Given the description of an element on the screen output the (x, y) to click on. 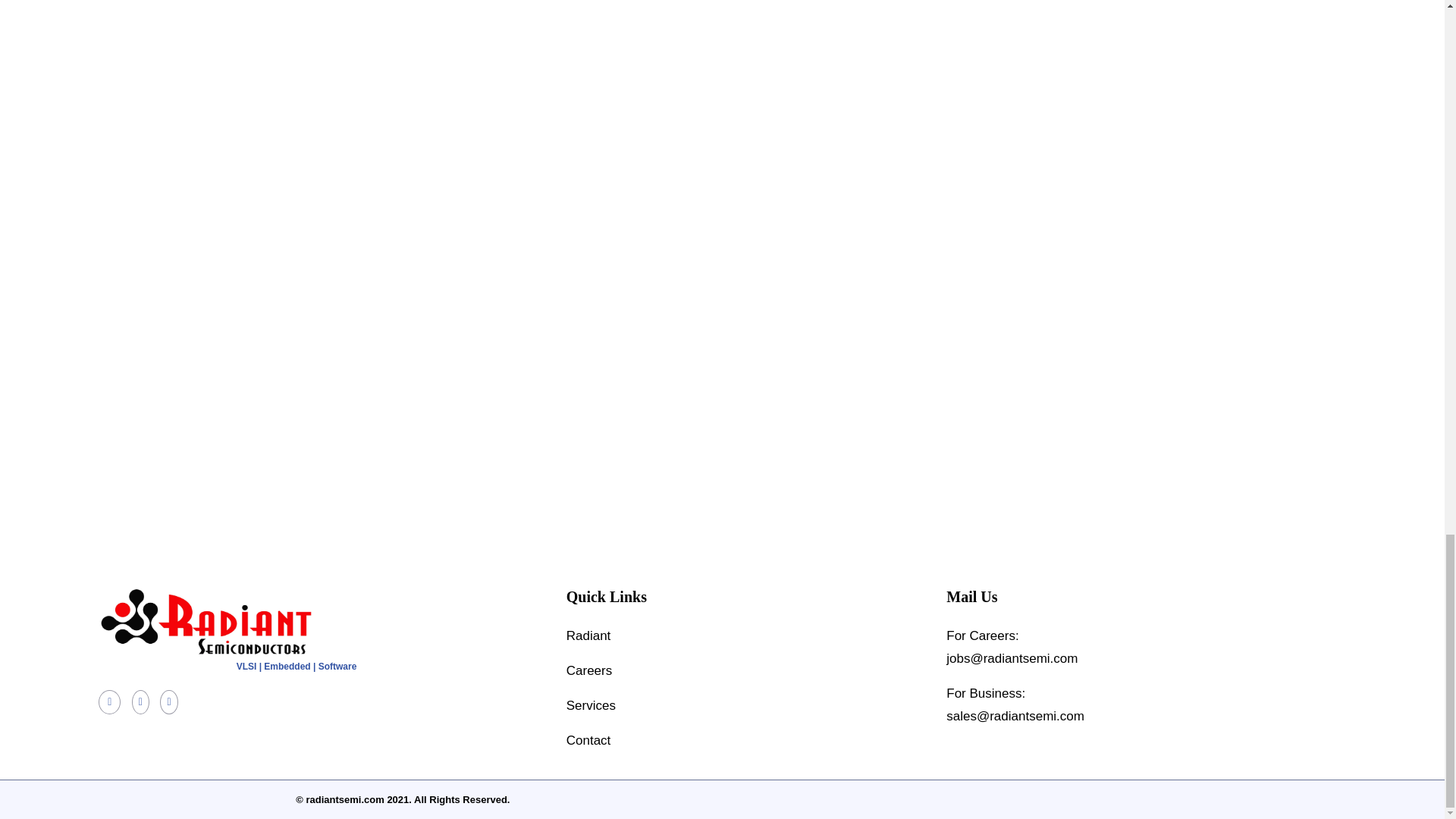
Services (745, 705)
Radiant (745, 635)
Contact (745, 740)
Careers (745, 671)
